Given the description of an element on the screen output the (x, y) to click on. 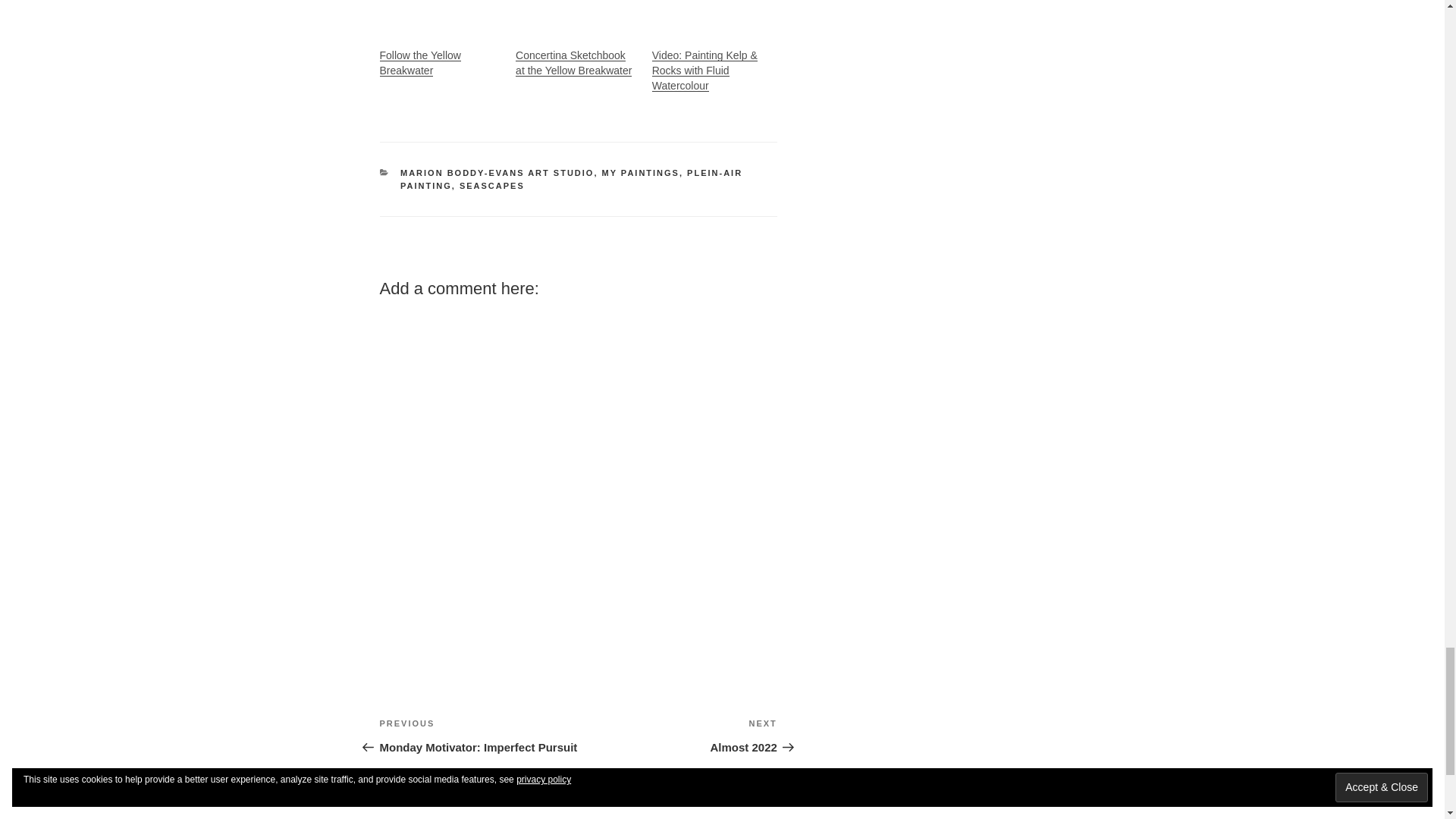
Comment Form (577, 475)
Concertina Sketchbook at the Yellow Breakwater (573, 62)
Follow the Yellow Breakwater (439, 15)
Concertina Sketchbook at the Yellow Breakwater (576, 15)
Follow the Yellow Breakwater (419, 62)
